Given the description of an element on the screen output the (x, y) to click on. 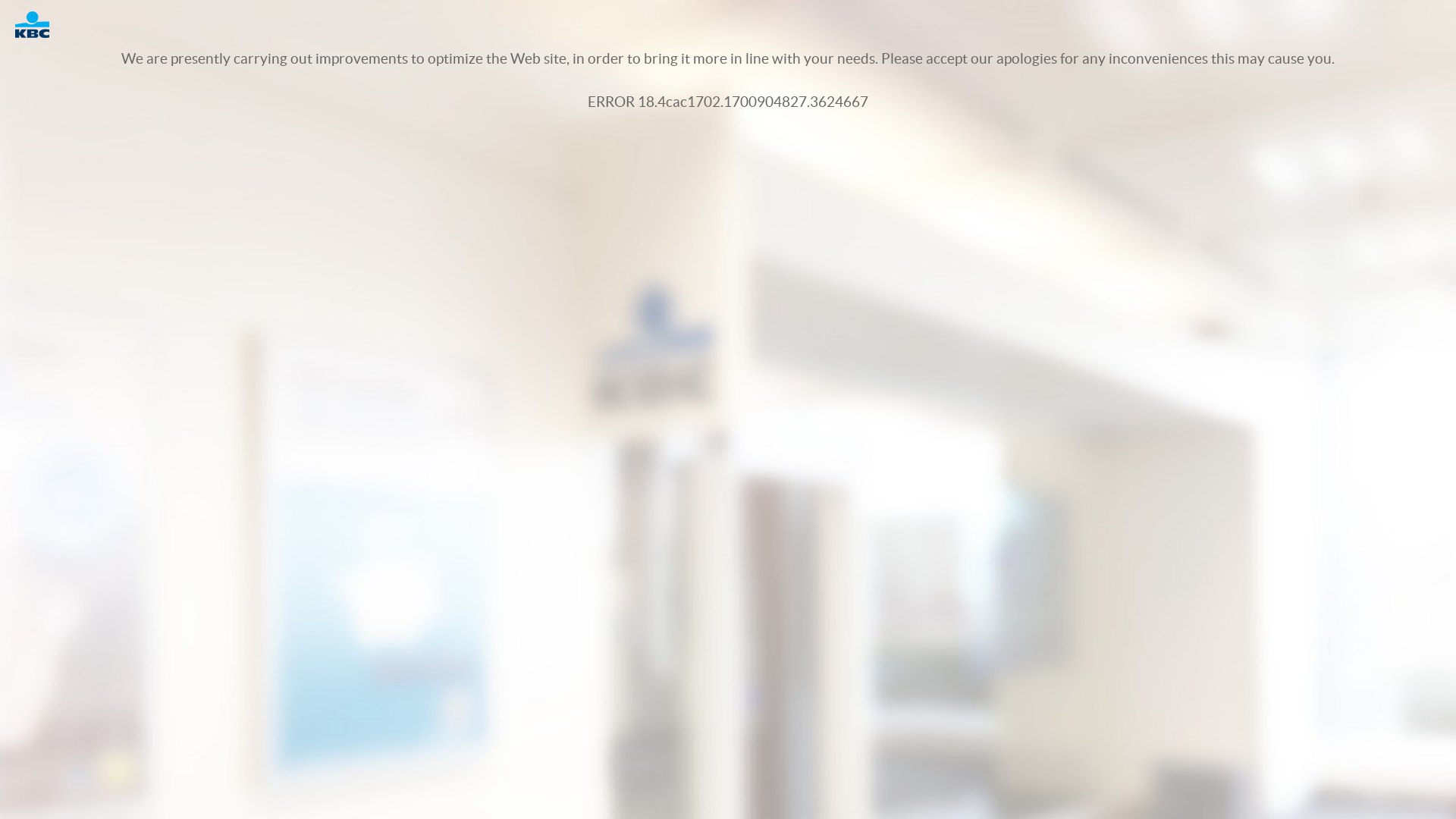
Logo Element type: text (39, 24)
